Given the description of an element on the screen output the (x, y) to click on. 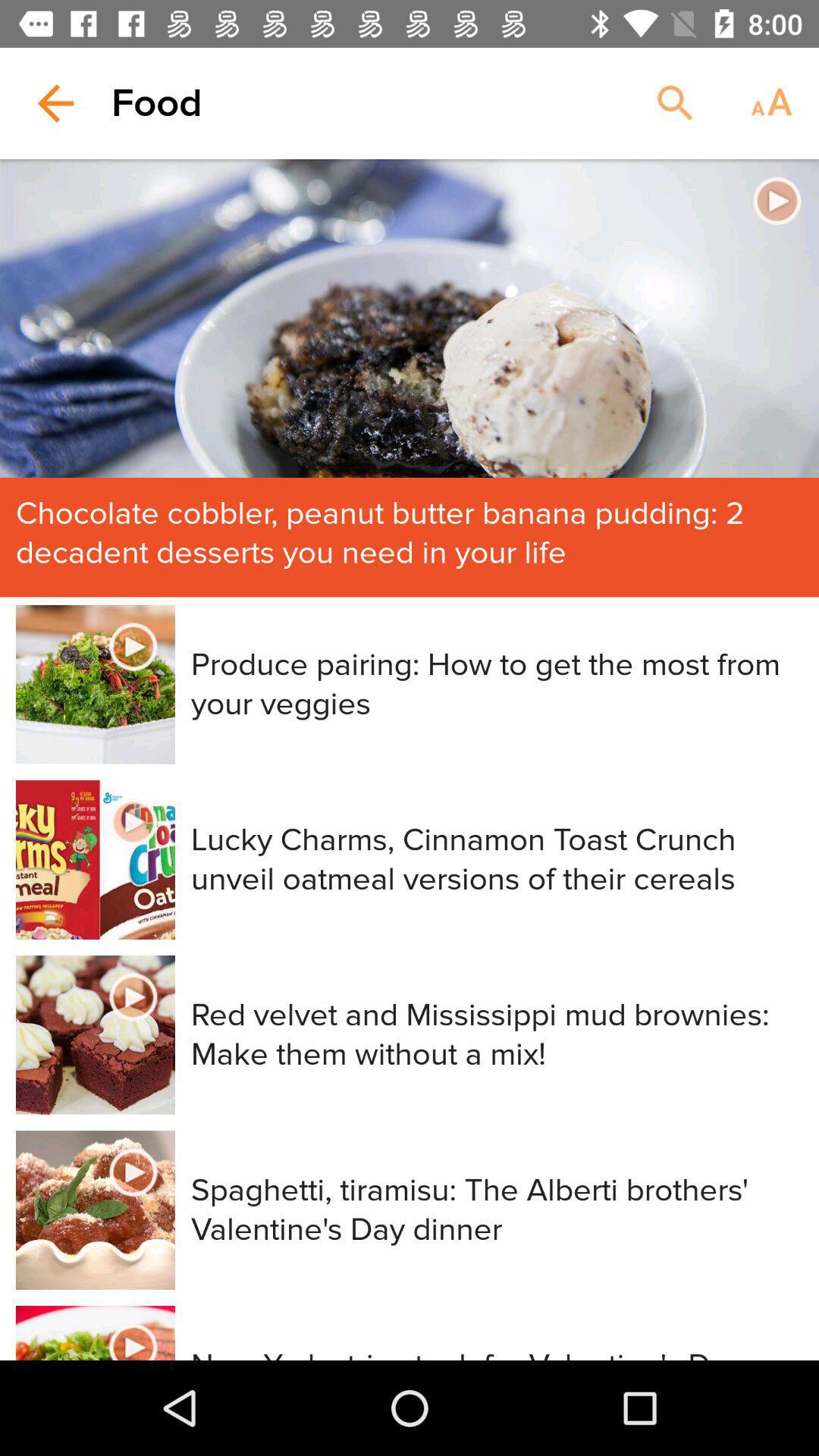
flip to food icon (156, 103)
